Given the description of an element on the screen output the (x, y) to click on. 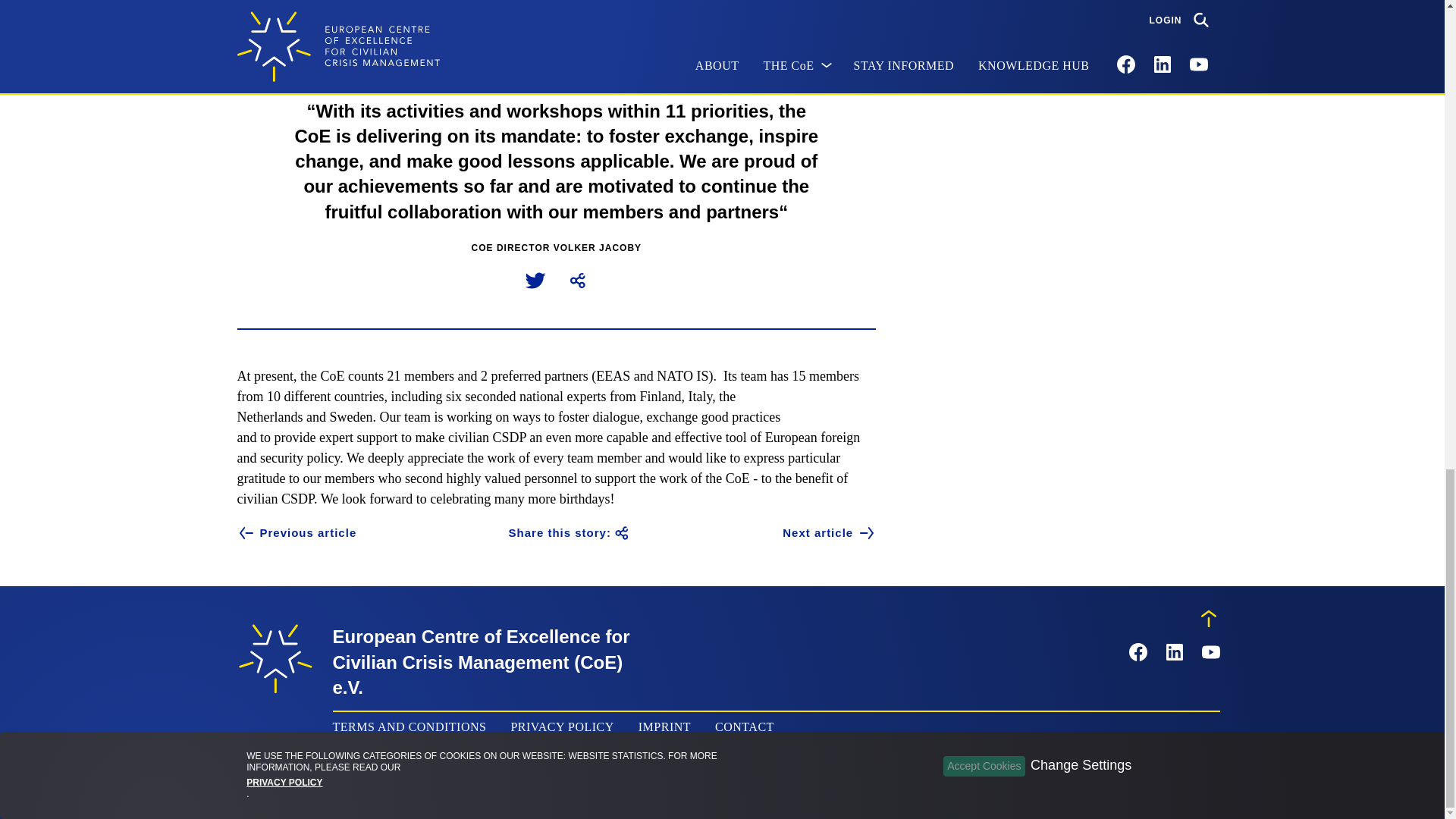
Next article (829, 532)
International Studies Association (501, 10)
EAPTC 2021 conference. (477, 12)
Twitter (545, 272)
back to top (1208, 619)
Previous article (295, 532)
